Given the description of an element on the screen output the (x, y) to click on. 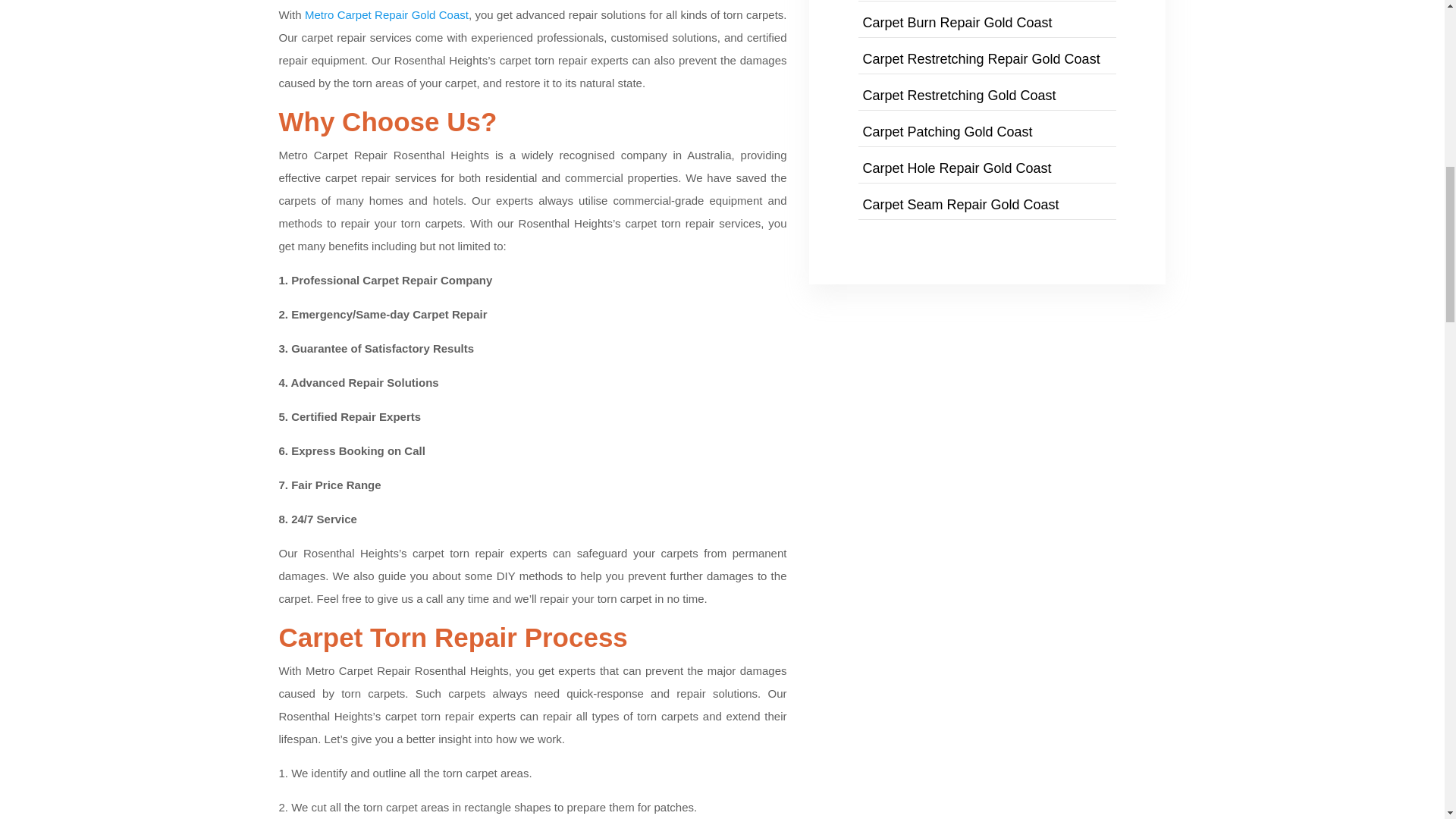
Metro Carpet Repair Gold Coast (386, 14)
Carpet Seam Repair Gold Coast (959, 204)
Carpet Burn Repair Gold Coast (956, 22)
Carpet Hole Repair Gold Coast (956, 168)
Carpet Restretching Gold Coast (958, 95)
Carpet Patching Gold Coast (946, 131)
Carpet Restretching Repair Gold Coast (980, 58)
